Given the description of an element on the screen output the (x, y) to click on. 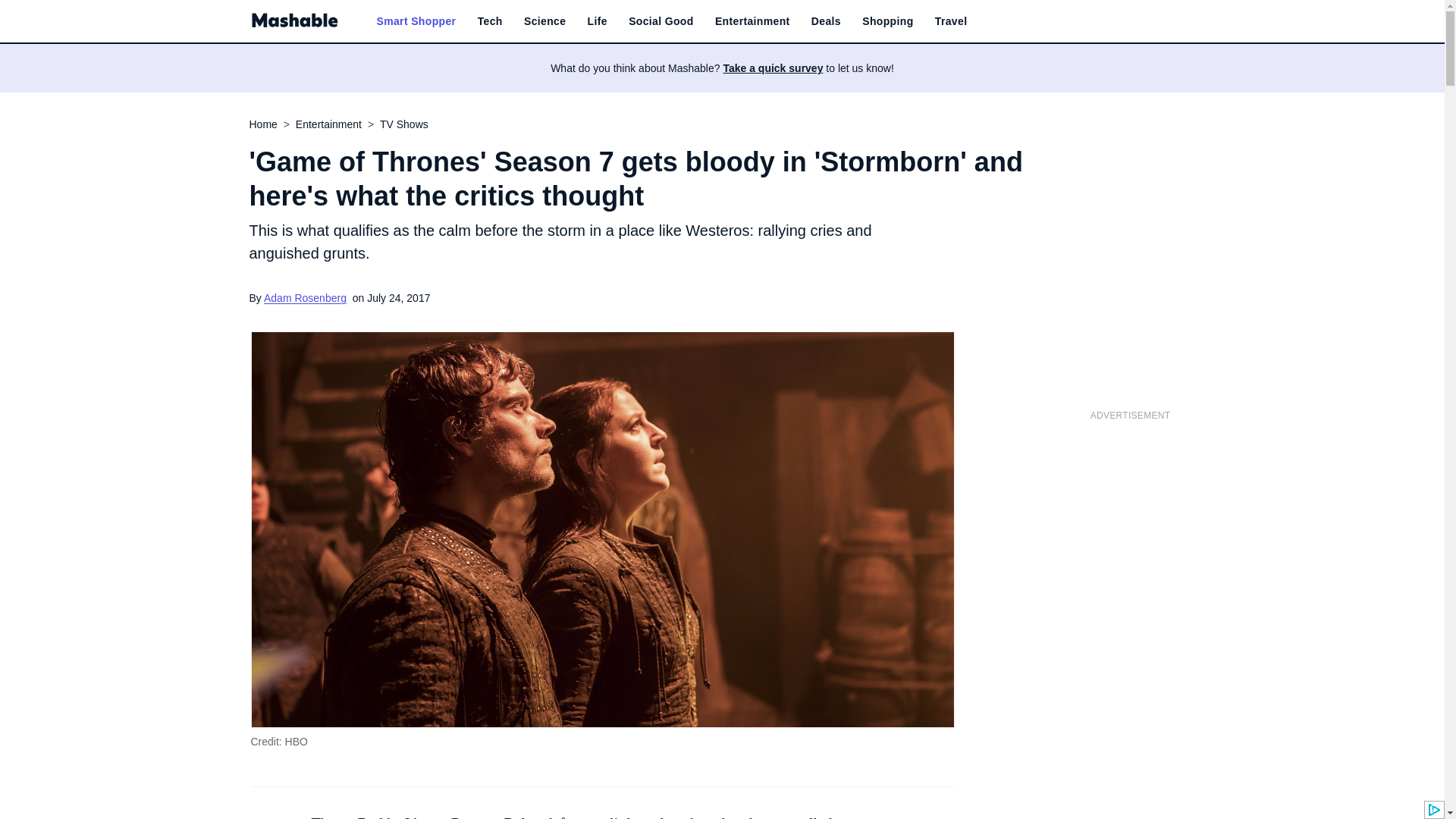
Deals (825, 21)
Entertainment (752, 21)
Social Good (661, 21)
Smart Shopper (415, 21)
Science (545, 21)
Shopping (886, 21)
Tech (489, 21)
Life (597, 21)
Travel (951, 21)
